Given the description of an element on the screen output the (x, y) to click on. 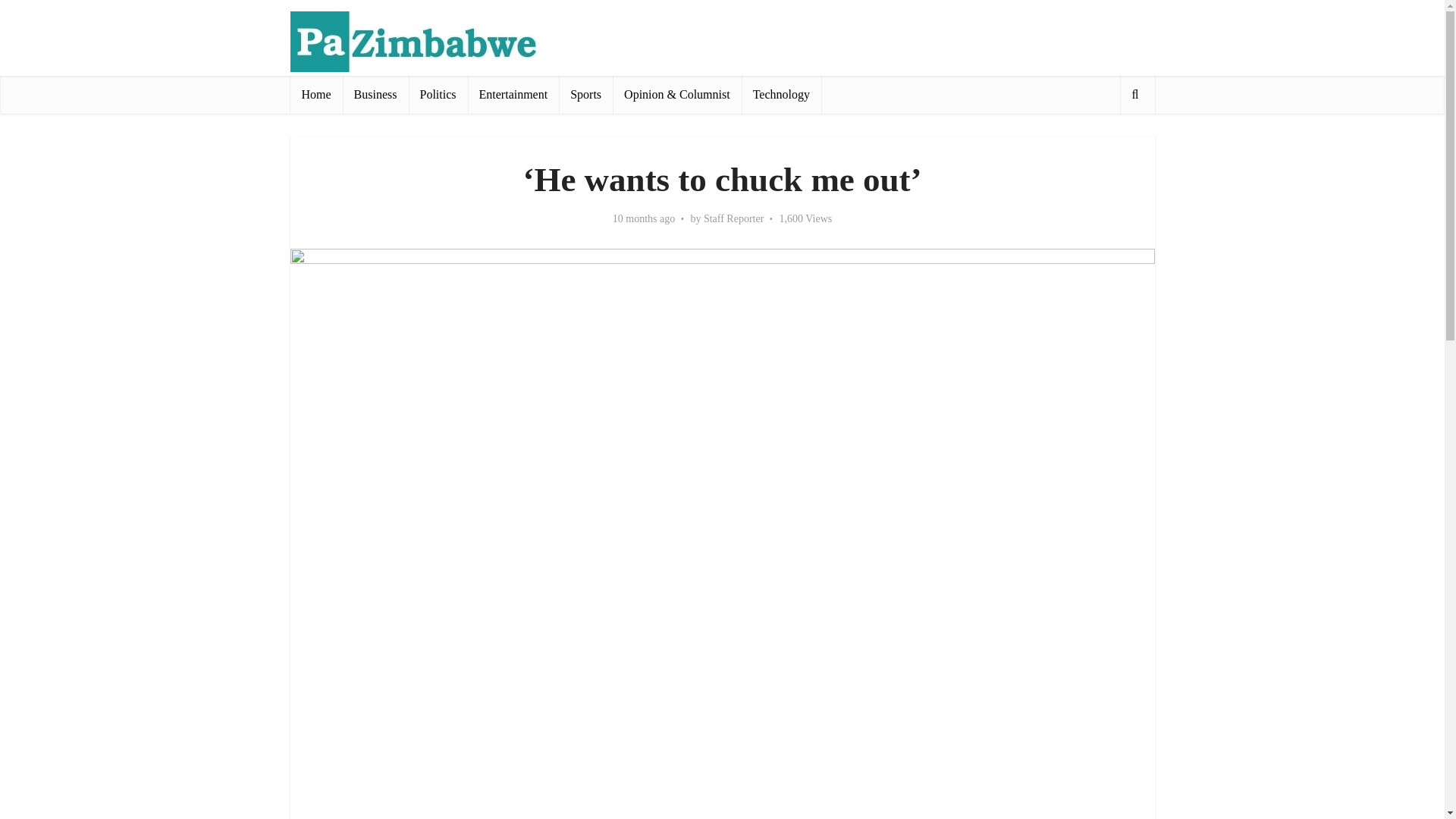
Entertainment (513, 94)
Technology (781, 94)
Sports (585, 94)
Business (375, 94)
Staff Reporter (732, 219)
Home (315, 94)
Politics (438, 94)
